Given the description of an element on the screen output the (x, y) to click on. 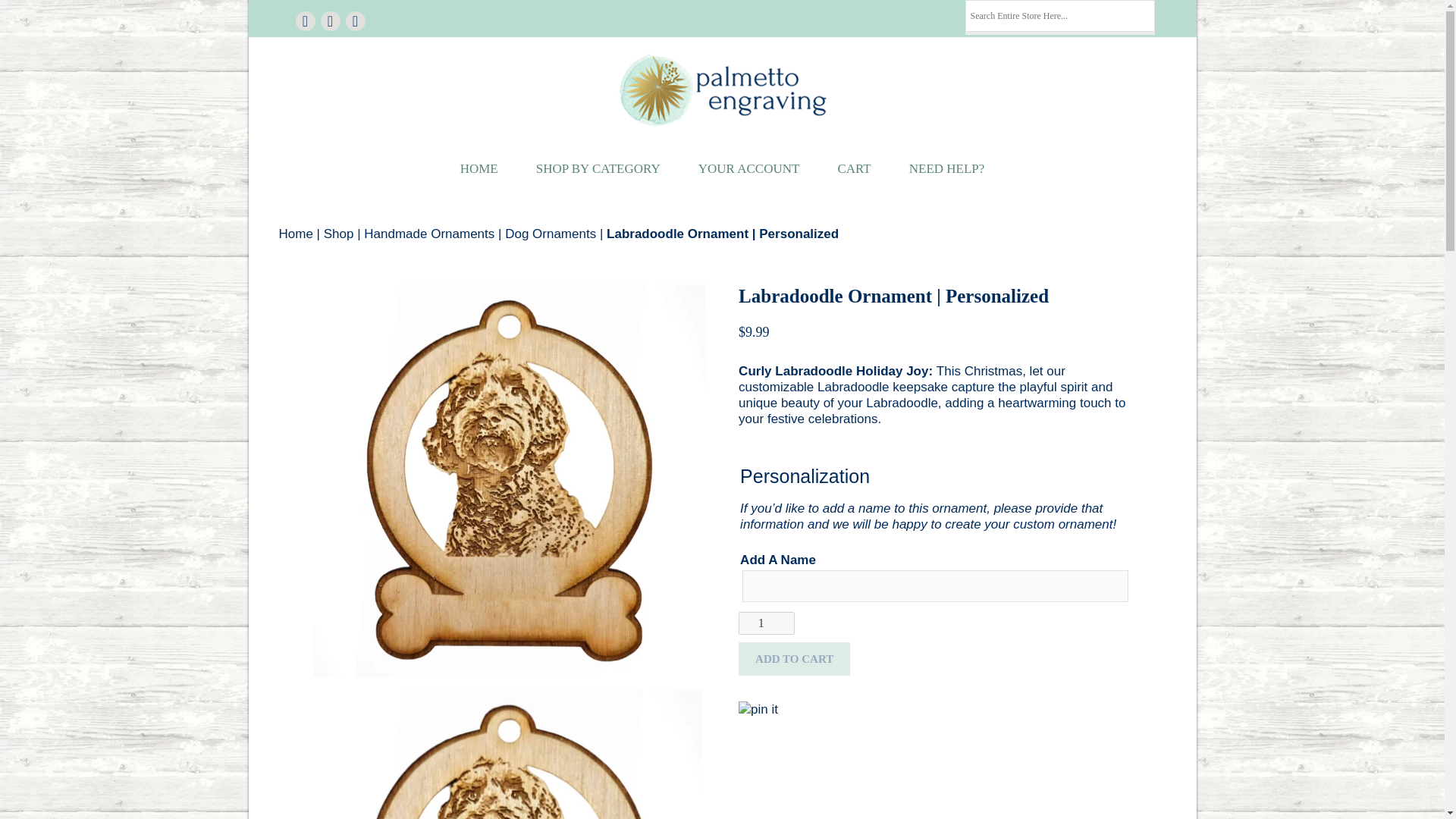
Home (296, 233)
instagram (355, 20)
1 (766, 621)
CART (853, 168)
pinterest (329, 20)
Dog Ornaments (550, 233)
SHOP BY CATEGORY (597, 168)
Labradoodle Ornament (509, 754)
HOME (478, 168)
NEED HELP? (946, 168)
